Given the description of an element on the screen output the (x, y) to click on. 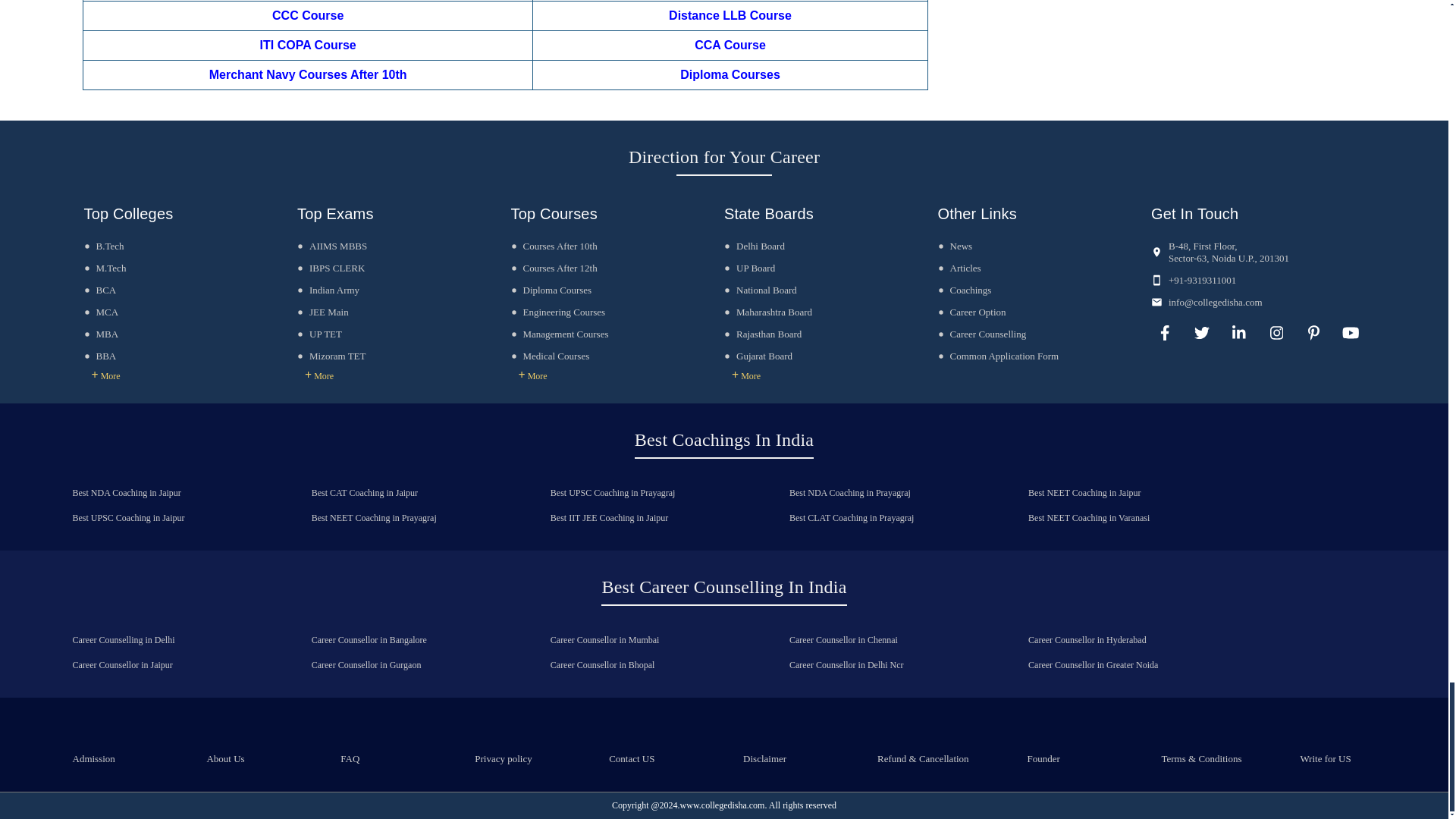
Diploma Courses (729, 74)
Indian Army (328, 289)
CCC Course (307, 15)
B.Tech (102, 245)
Distance LLB Course (730, 15)
IBPS CLERK (331, 267)
M.Tech (103, 267)
Diploma Courses (551, 289)
MCA (99, 311)
Mizoram TET (331, 355)
